Given the description of an element on the screen output the (x, y) to click on. 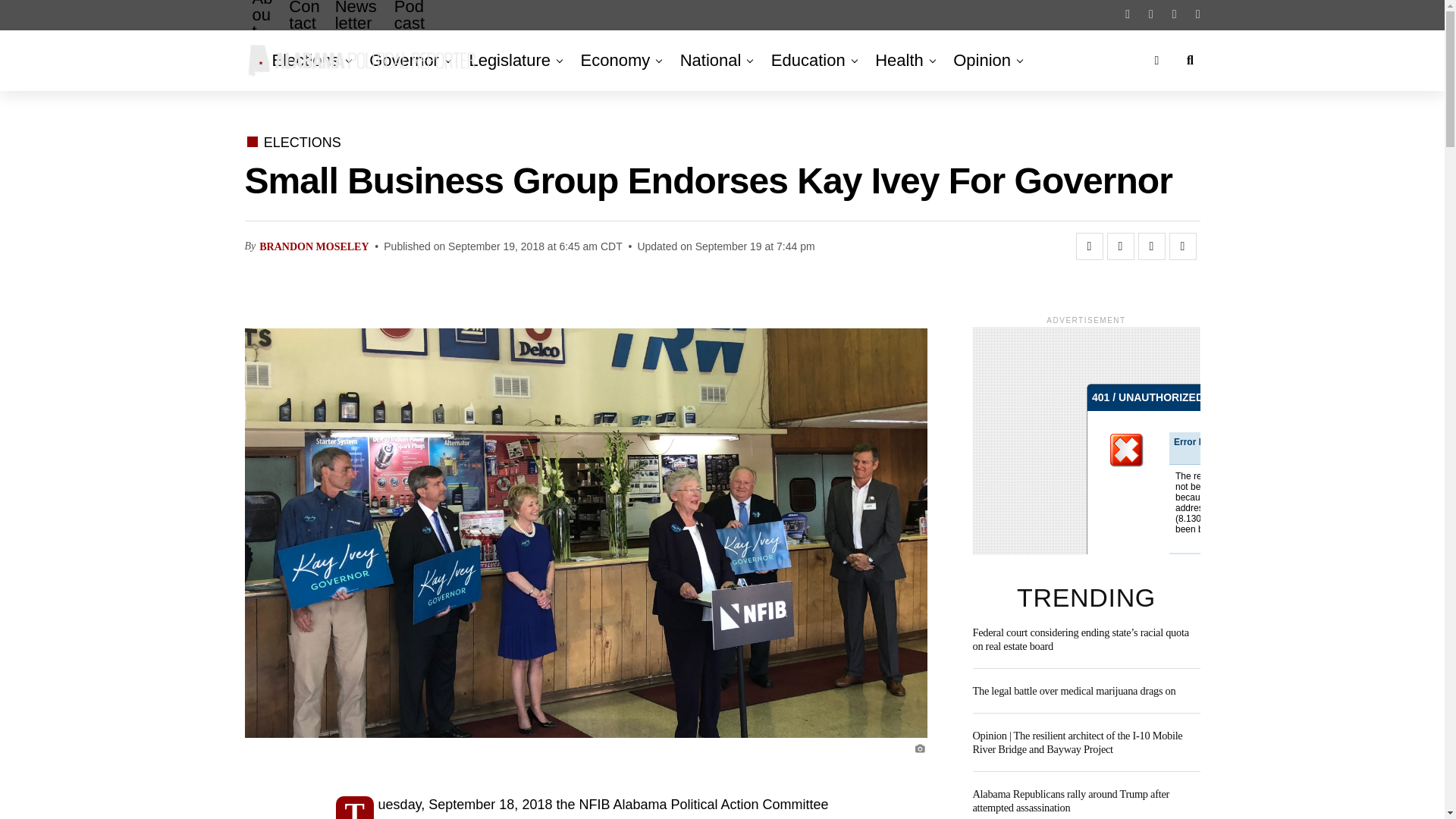
Elections (308, 60)
Newsletter (357, 27)
Podcast (410, 27)
Tweet This Post (1120, 246)
About (262, 31)
Governor (403, 60)
Share on Facebook (1088, 246)
Contact (303, 27)
Share on Flipboard (1150, 246)
Posts by Brandon Moseley (313, 246)
